Given the description of an element on the screen output the (x, y) to click on. 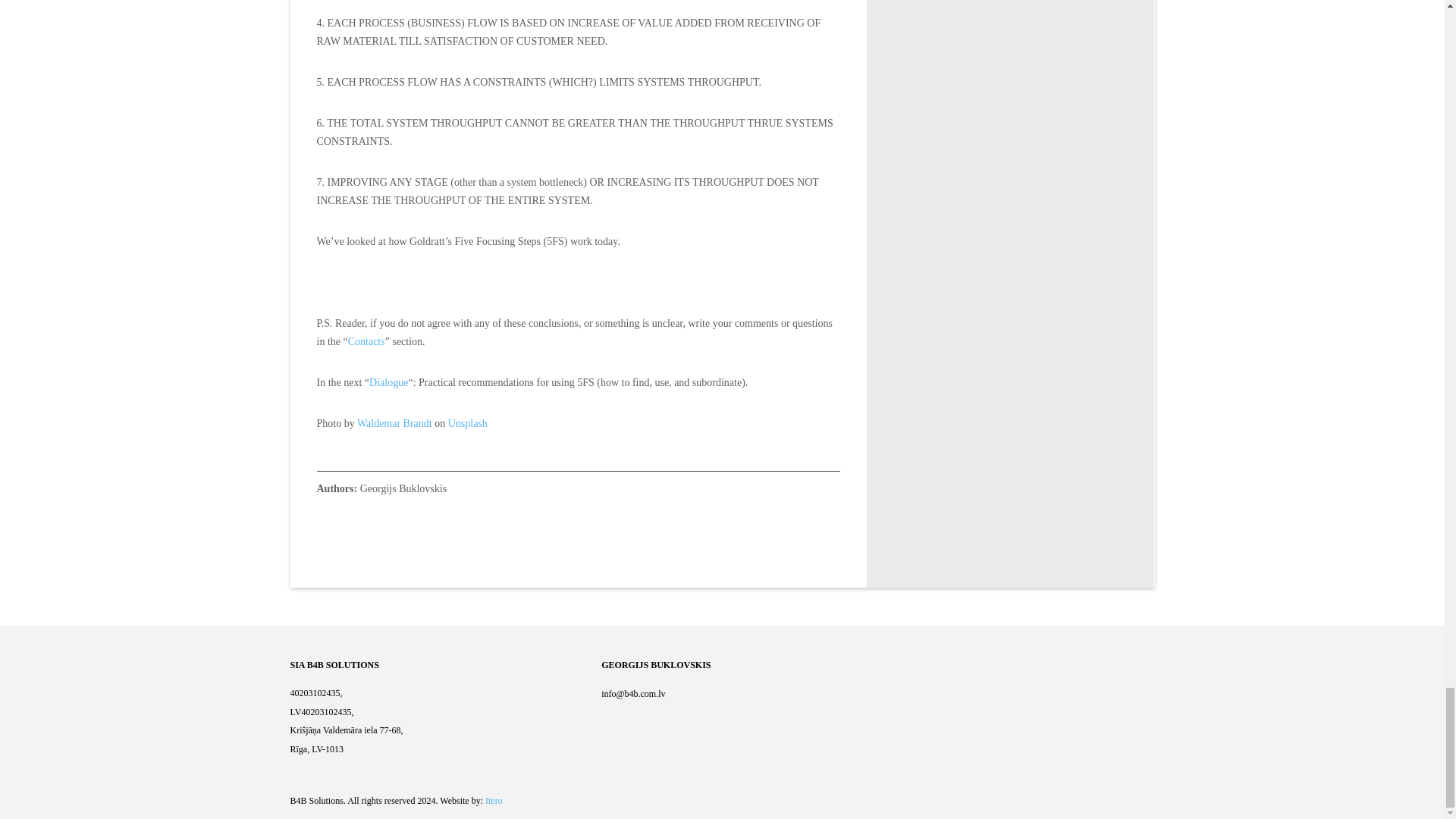
Dialogue (388, 382)
Unsplash (467, 423)
Contacts (366, 341)
Waldemar Brandt (394, 423)
Itero (493, 800)
